Given the description of an element on the screen output the (x, y) to click on. 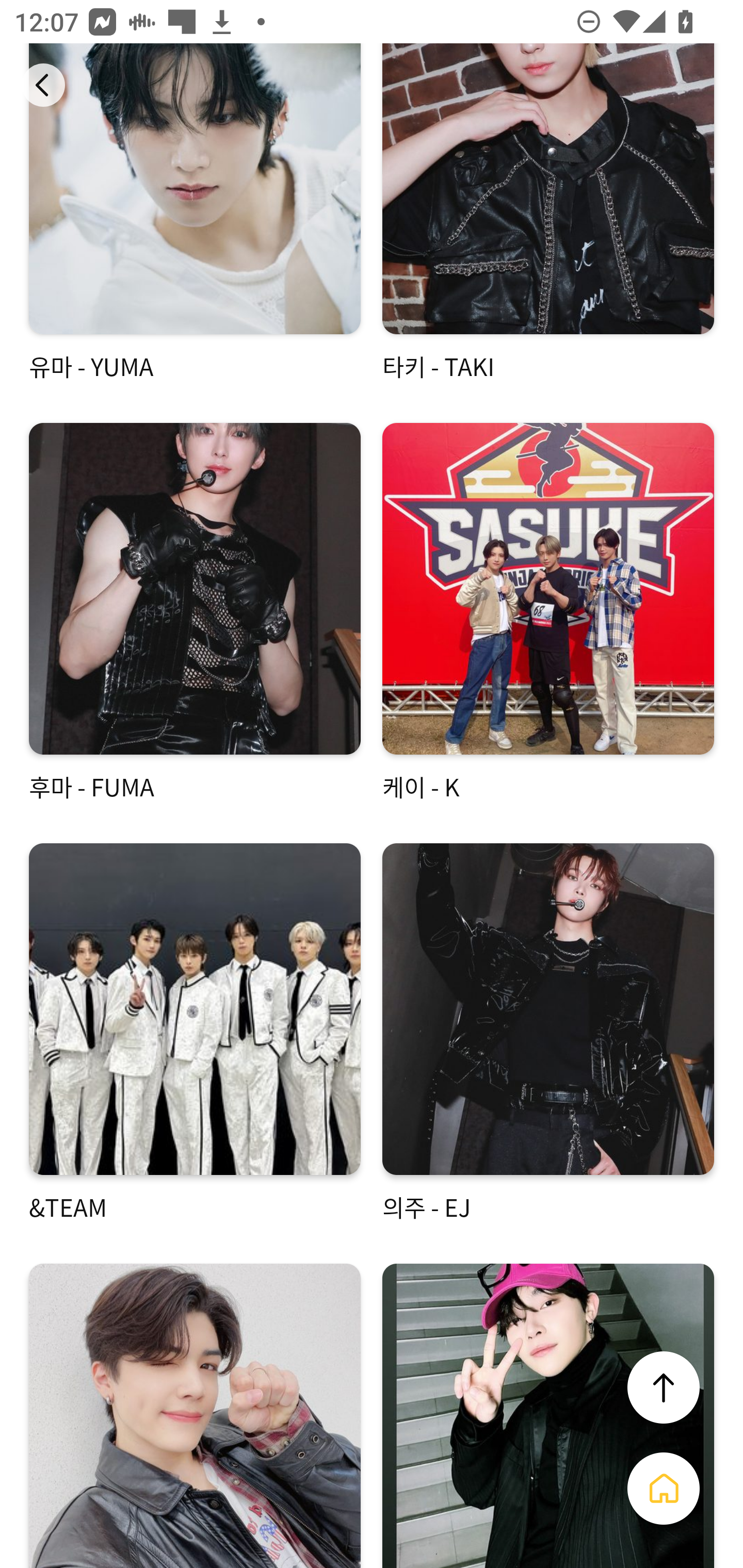
유마  -  YUMA (194, 212)
타키  -  TAKI (548, 212)
후마  -  FUMA (194, 612)
케이  -  K (548, 612)
&TEAM (194, 1033)
의주  -  EJ (548, 1033)
